Given the description of an element on the screen output the (x, y) to click on. 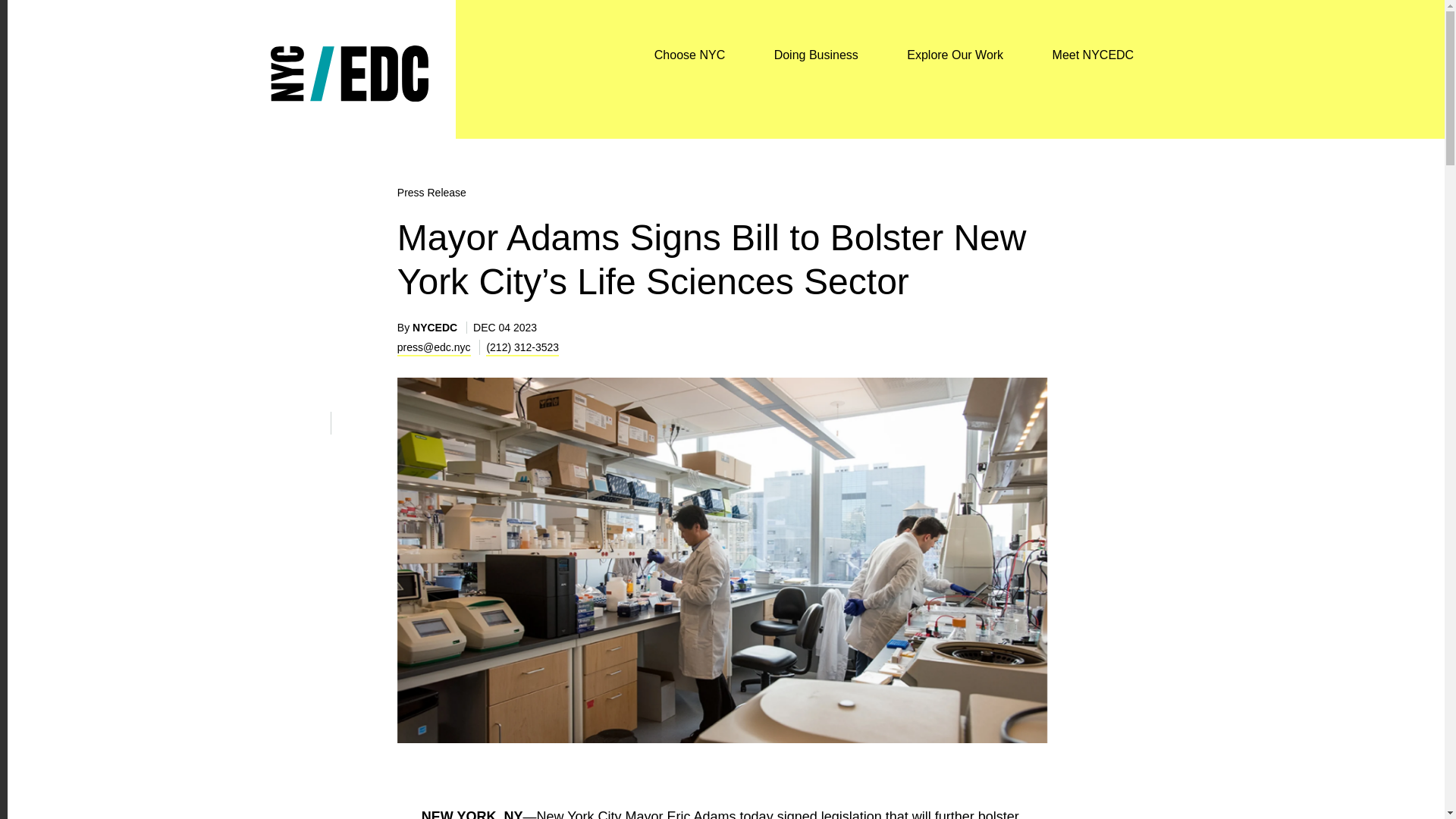
Meet NYCEDC (1093, 56)
NYCEDC, Go to Home Page (349, 54)
Doing Business (816, 56)
Choose NYC (689, 56)
Explore Our Work (955, 56)
